Given the description of an element on the screen output the (x, y) to click on. 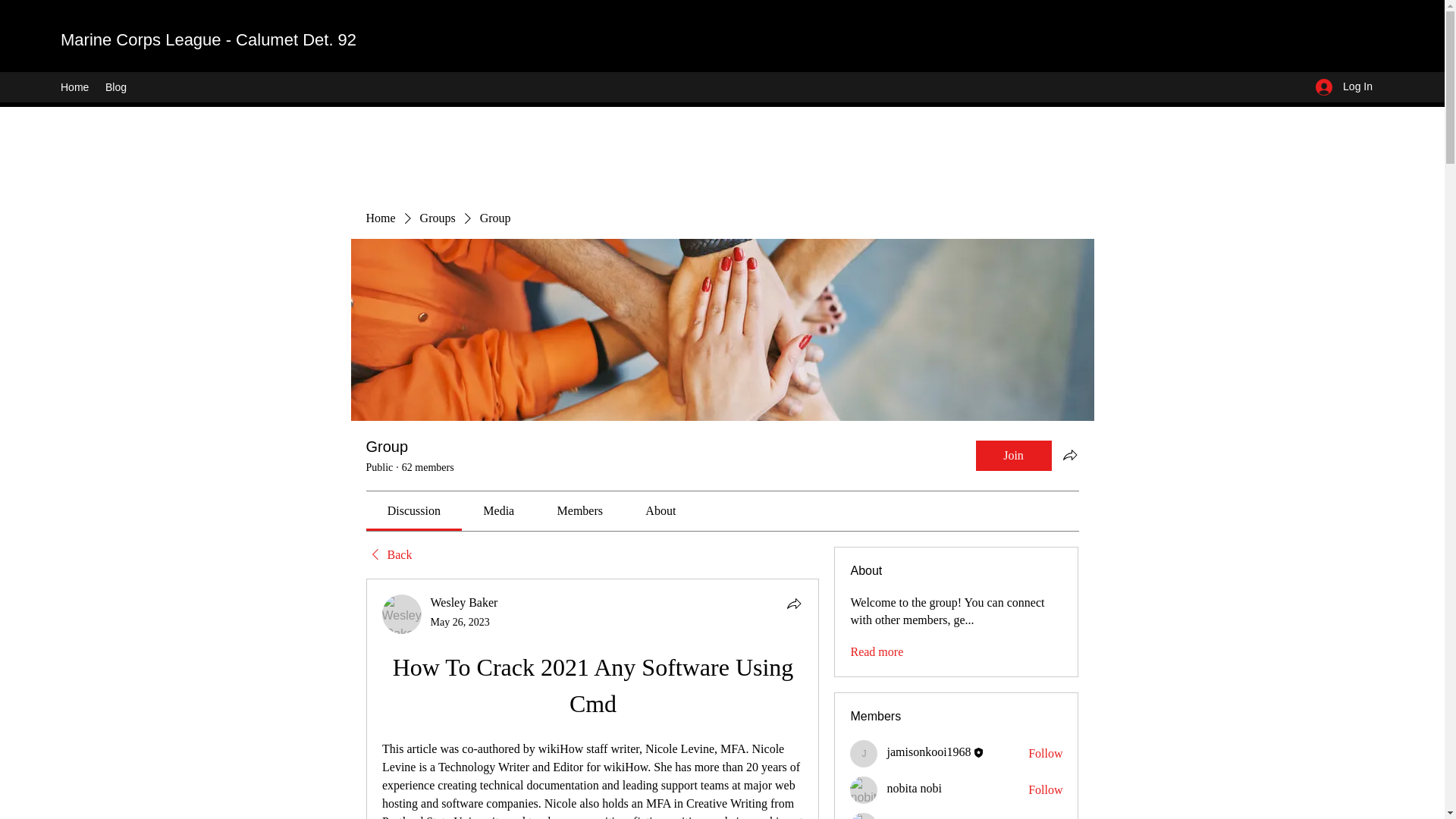
nobita nobi (913, 788)
Follow (1044, 753)
Read more (876, 651)
nobita nobi (863, 789)
May 26, 2023 (459, 622)
Follow (1044, 790)
Wesley Baker (401, 613)
Marine Corps League - Calumet Det. 92 (208, 39)
Ridhima Desai (863, 816)
Join (1013, 455)
Ridhima Desai (922, 818)
Home (74, 87)
jamisonkooi1968 (863, 753)
Log In (1343, 86)
jamisonkooi1968 (928, 751)
